Given the description of an element on the screen output the (x, y) to click on. 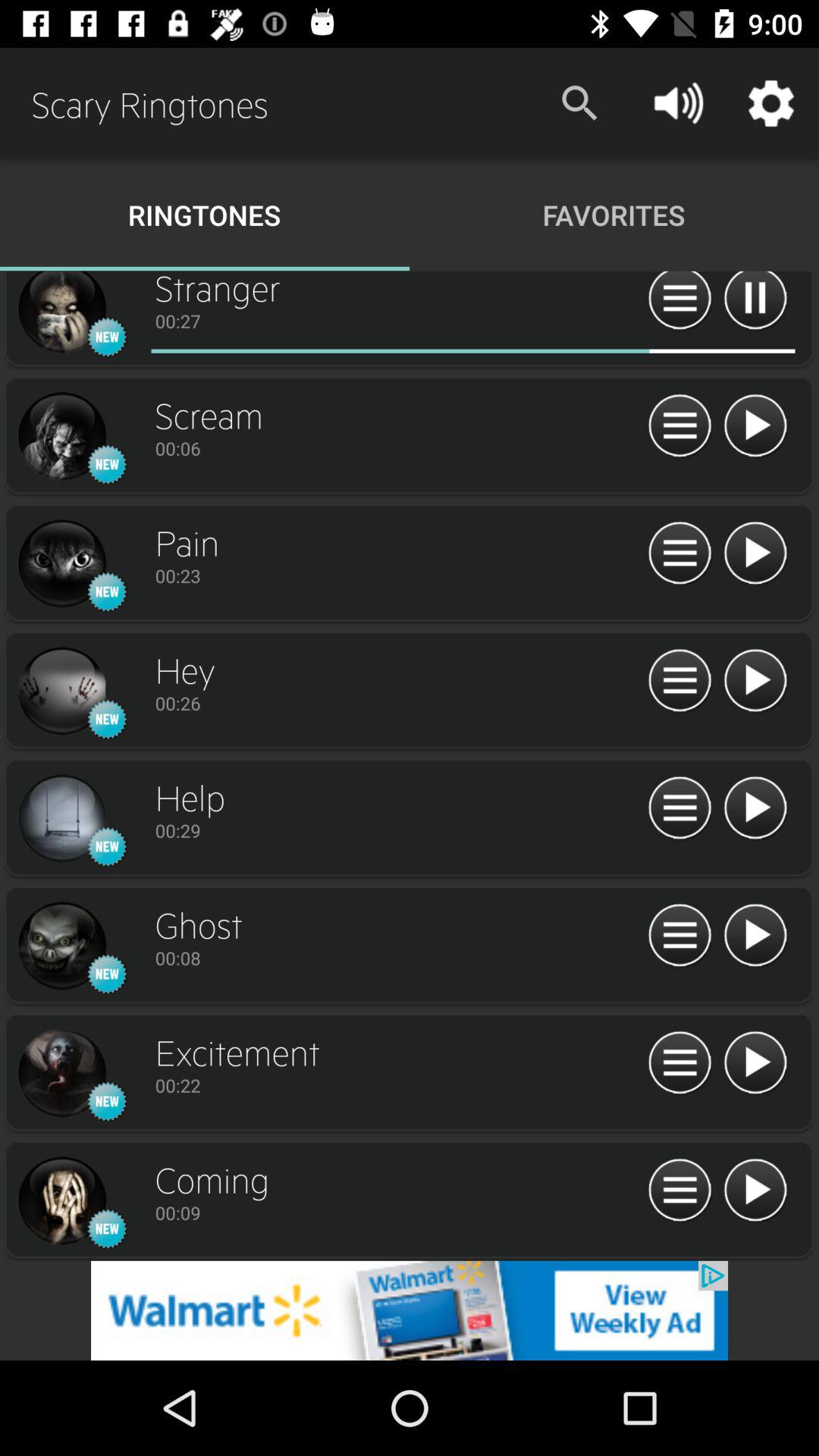
play ringtone (755, 553)
